Given the description of an element on the screen output the (x, y) to click on. 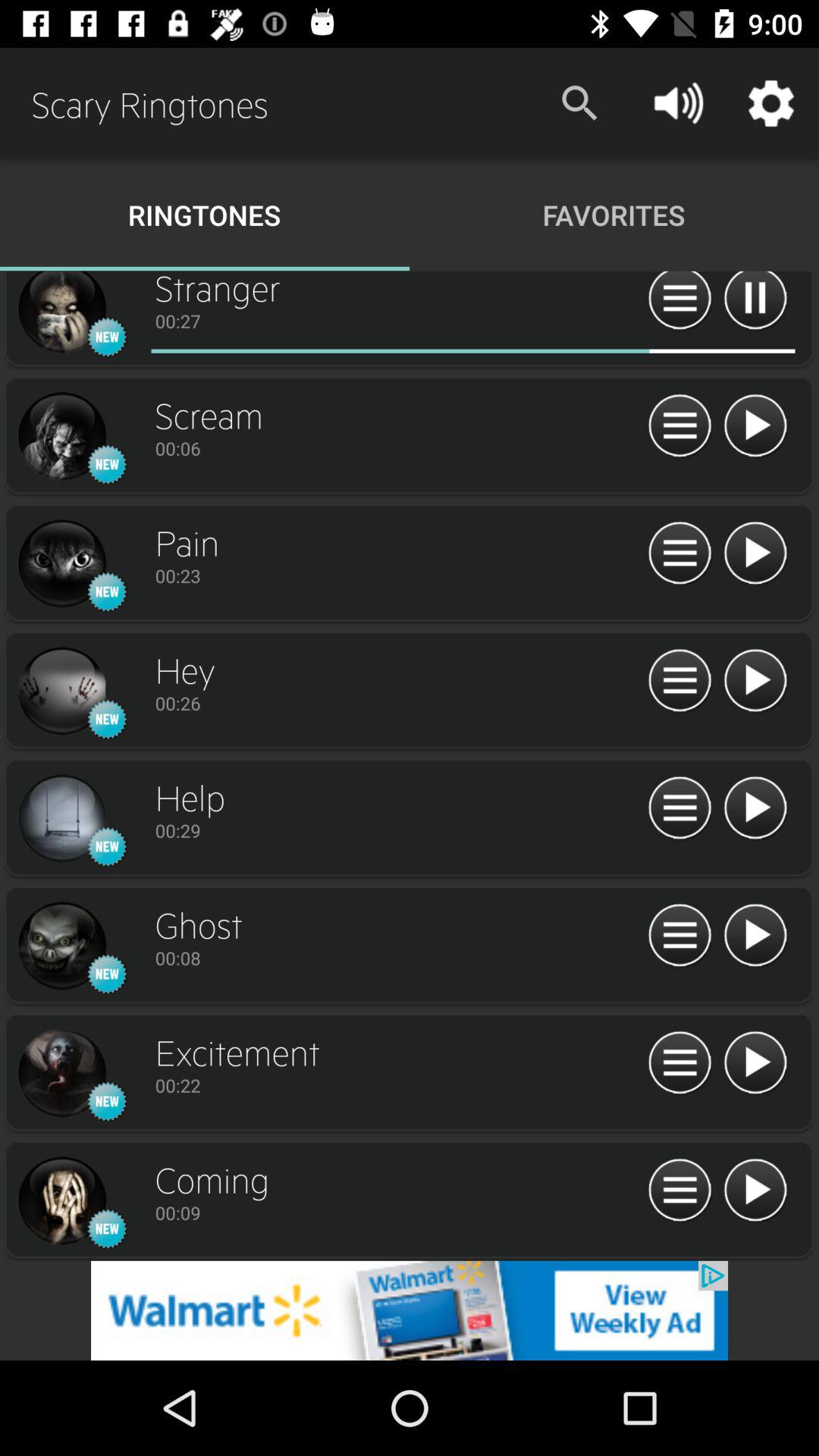
play ringtone (755, 553)
